Given the description of an element on the screen output the (x, y) to click on. 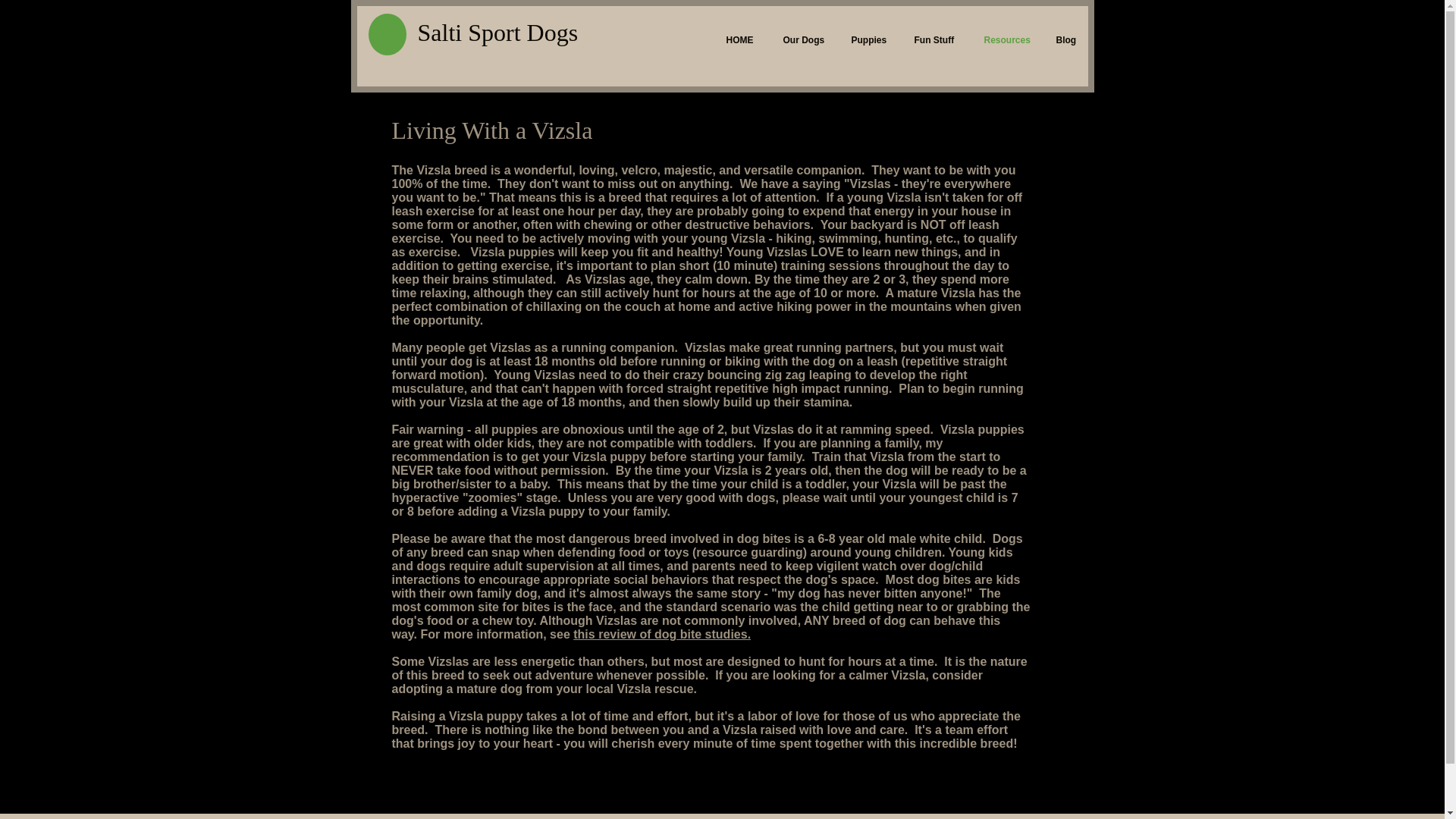
HOME (738, 40)
Puppies (866, 40)
this review of dog bite studies. (662, 634)
Fun Stuff (933, 40)
Resources (1003, 40)
Blog (1065, 40)
Our Dogs (801, 40)
